Given the description of an element on the screen output the (x, y) to click on. 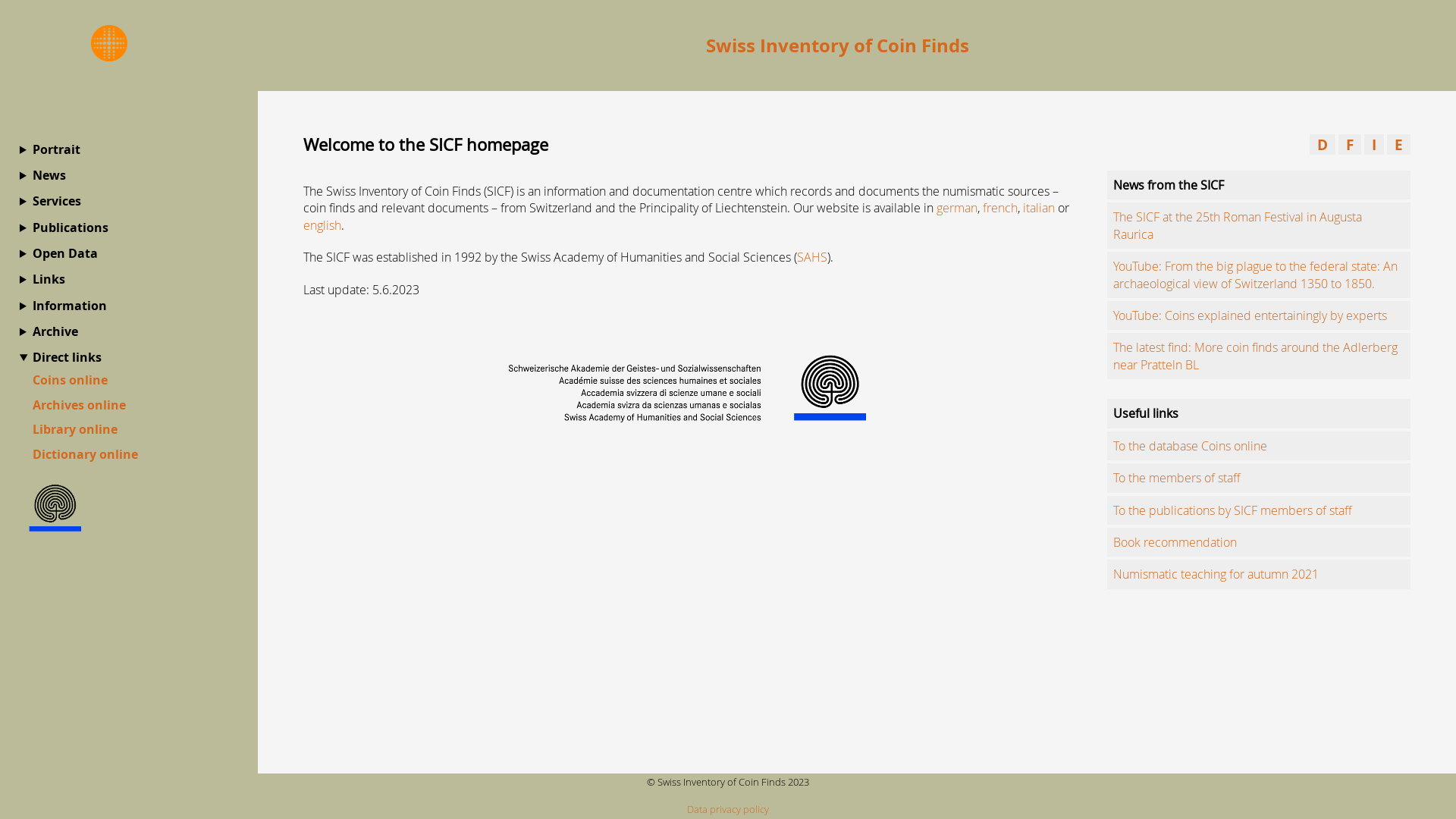
I Element type: text (1373, 144)
Numismatic teaching for autumn 2021 Element type: text (1215, 573)
YouTube: Coins explained entertainingly by experts Element type: text (1249, 315)
To the database Coins online Element type: text (1190, 445)
english Element type: text (322, 224)
german Element type: text (956, 207)
Data privacy policy Element type: text (727, 809)
SAHS Element type: text (812, 256)
F Element type: text (1349, 144)
italian Element type: text (1038, 207)
Coins online Element type: text (69, 379)
Swiss Inventory of Coin Finds Element type: text (837, 45)
french Element type: text (999, 207)
Dictionary online Element type: text (85, 453)
D Element type: text (1322, 144)
To the publications by SICF members of staff Element type: text (1232, 510)
E Element type: text (1398, 144)
Archives online Element type: text (78, 404)
To the members of staff Element type: text (1176, 477)
The SICF at the 25th Roman Festival in Augusta Raurica Element type: text (1237, 224)
Library online Element type: text (74, 428)
Book recommendation Element type: text (1174, 541)
